Given the description of an element on the screen output the (x, y) to click on. 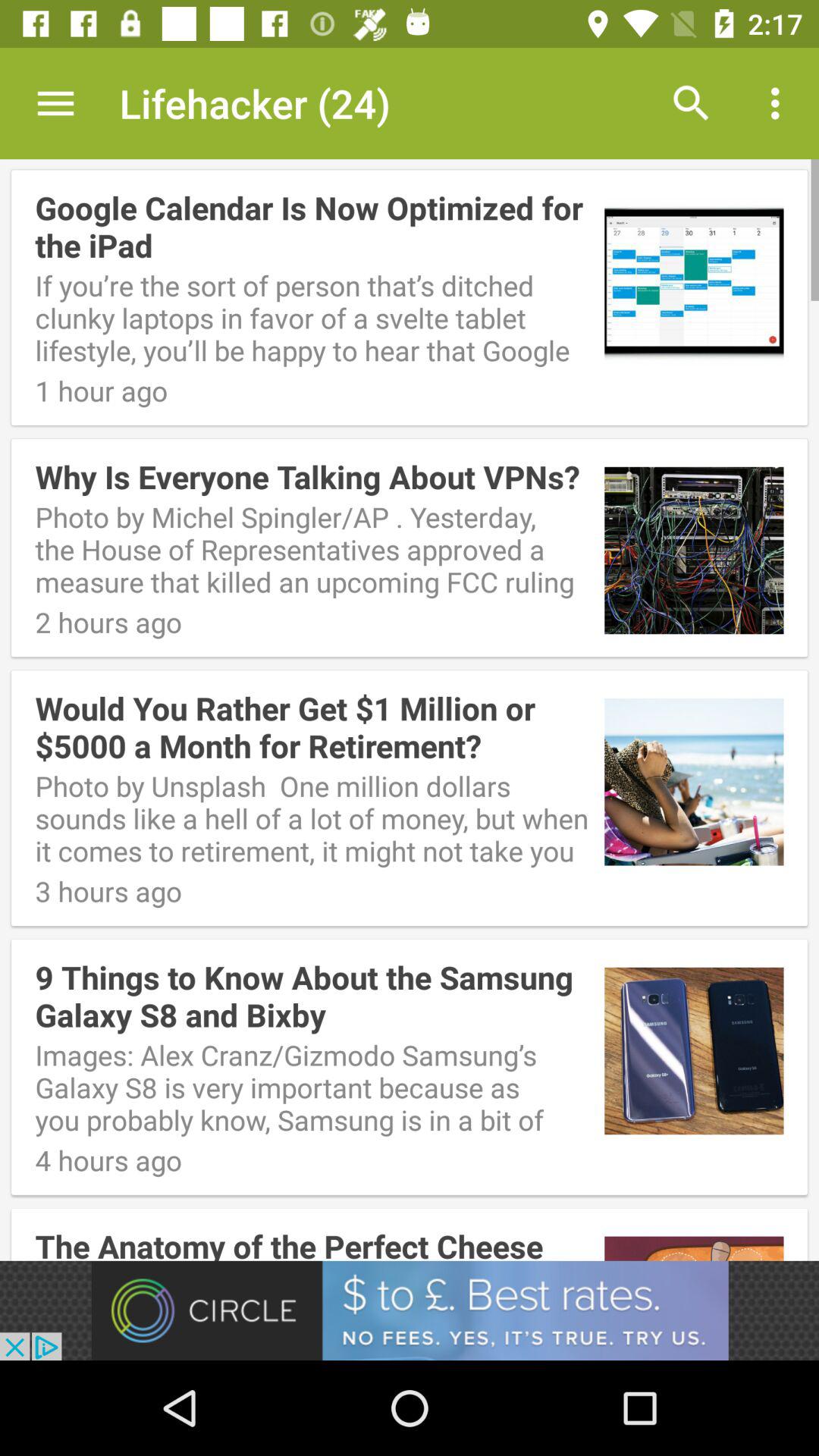
circle best rates (409, 1310)
